Given the description of an element on the screen output the (x, y) to click on. 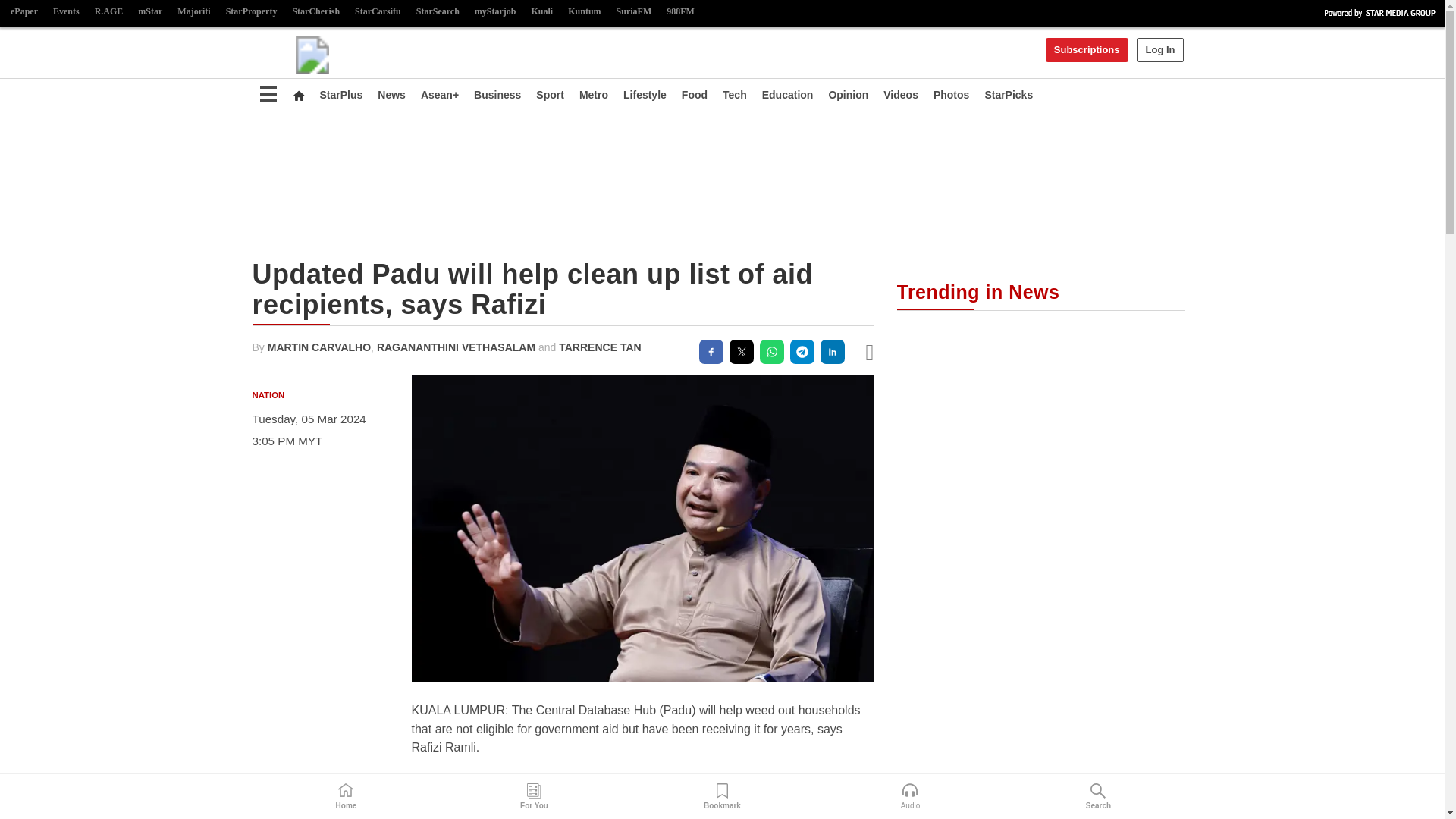
R.AGE (109, 11)
Majoriti (193, 11)
myStarjob (495, 11)
Kuntum (584, 11)
Subscriptions (1086, 49)
StarCherish (315, 11)
Events (66, 11)
Kuali (542, 11)
988FM (680, 11)
mStar (150, 11)
StarCarsifu (378, 11)
SuriaFM (633, 11)
StarSearch (438, 11)
StarProperty (251, 11)
ePaper (23, 11)
